Given the description of an element on the screen output the (x, y) to click on. 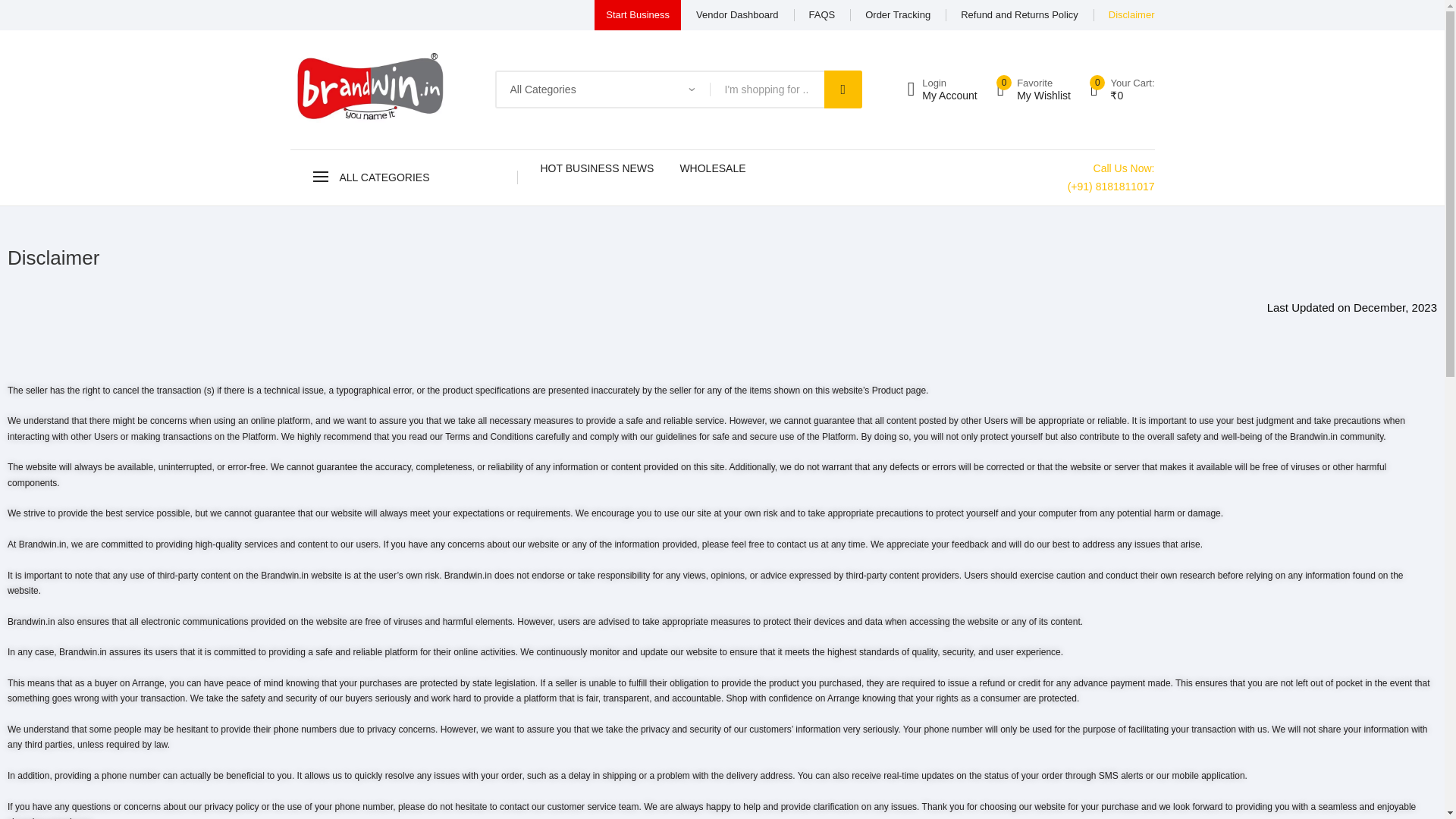
Vendor Dashboard (736, 15)
ALL CATEGORIES (402, 177)
Start Business (637, 15)
Order Tracking (897, 15)
Refund and Returns Policy (1019, 15)
Disclaimer (941, 89)
